Given the description of an element on the screen output the (x, y) to click on. 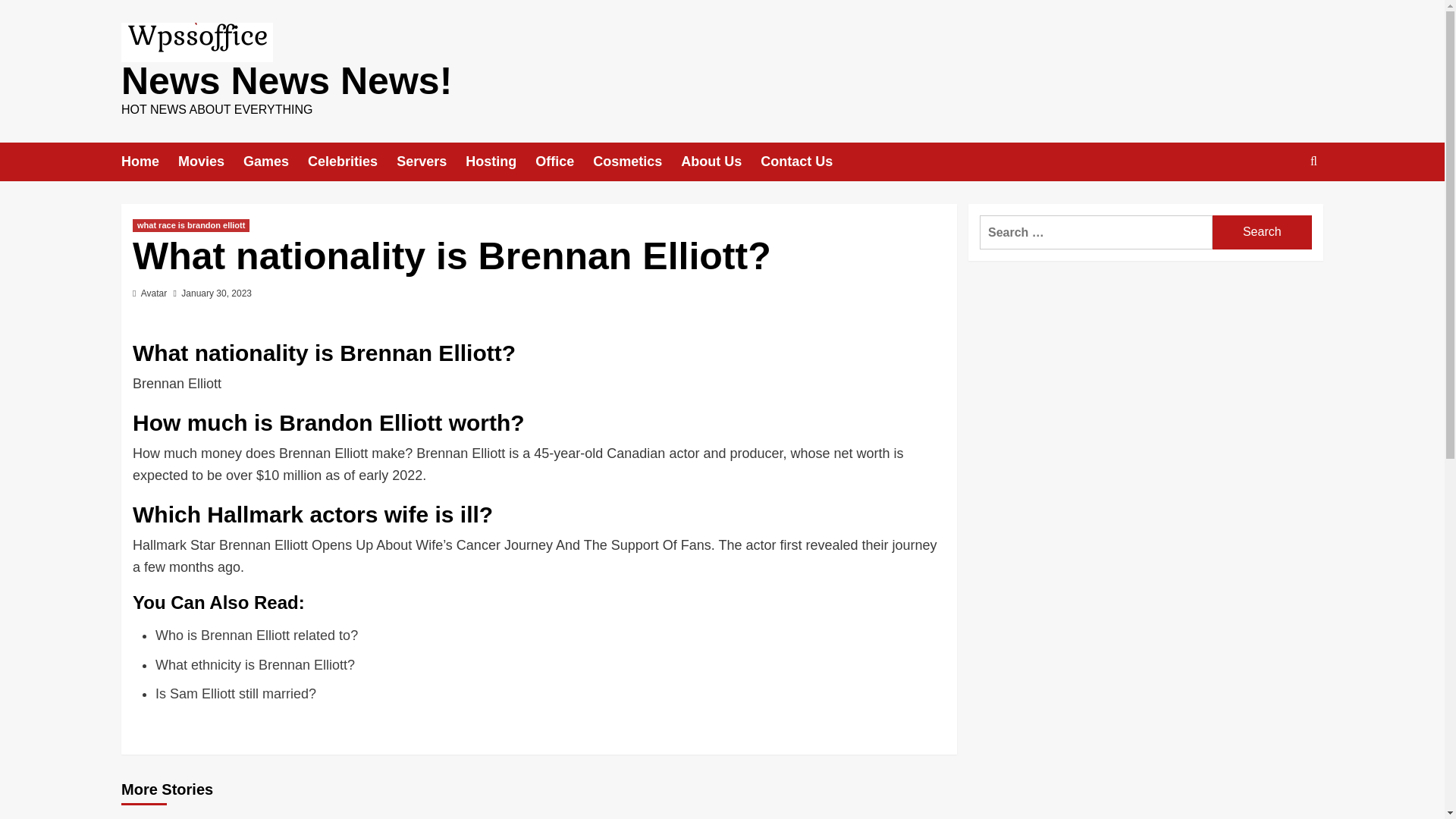
Celebrities (351, 161)
What ethnicity is Brennan Elliott? (255, 664)
January 30, 2023 (215, 293)
Who is Brennan Elliott related to? (256, 635)
Hosting (500, 161)
Movies (210, 161)
About Us (720, 161)
News News News! (285, 80)
Office (563, 161)
Home (148, 161)
Search (1261, 232)
Search (1278, 207)
Contact Us (805, 161)
Games (275, 161)
Search (1261, 232)
